Given the description of an element on the screen output the (x, y) to click on. 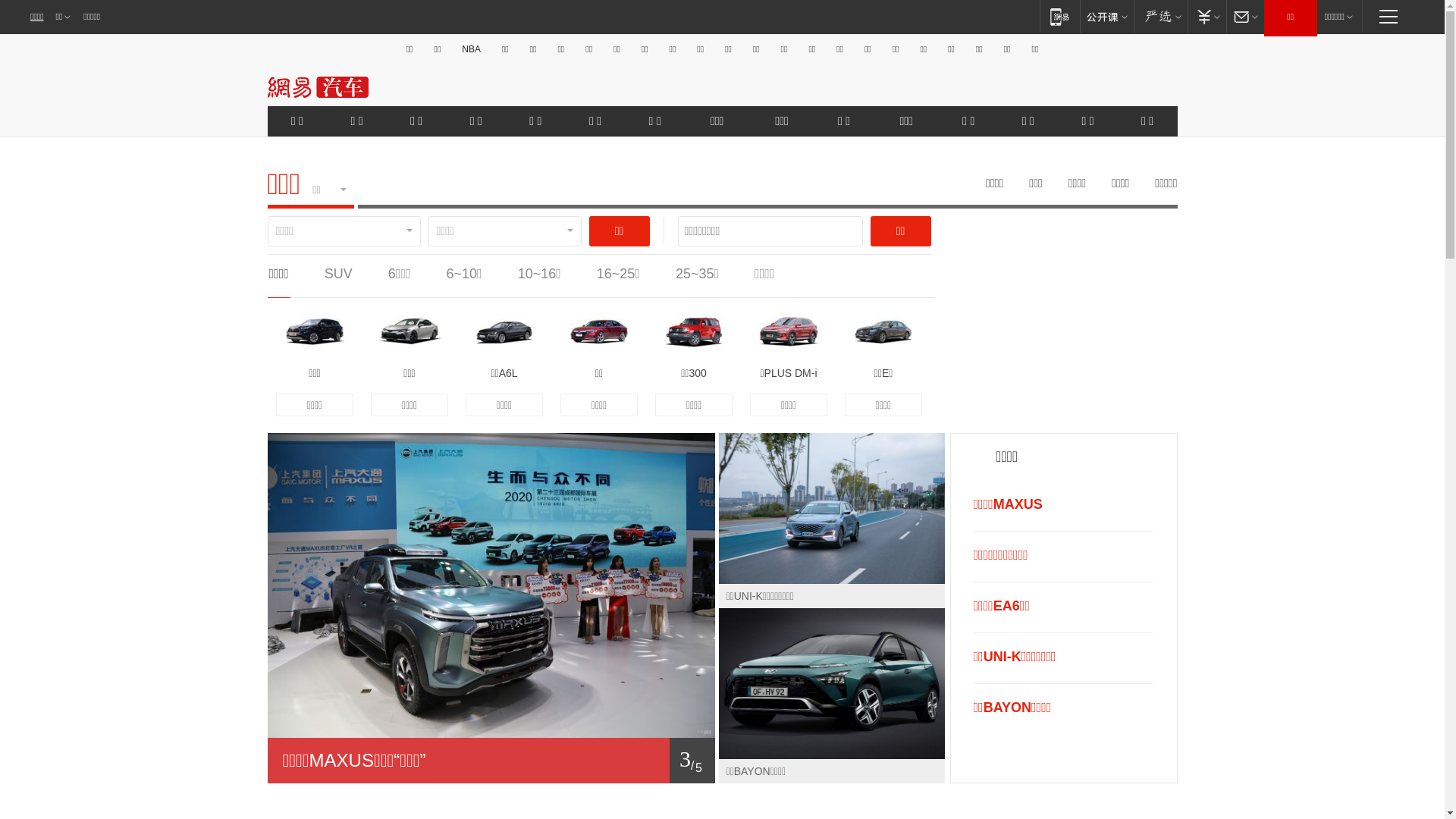
SUV Element type: text (338, 273)
NBA Element type: text (471, 48)
1/ 5 Element type: text (490, 760)
